Given the description of an element on the screen output the (x, y) to click on. 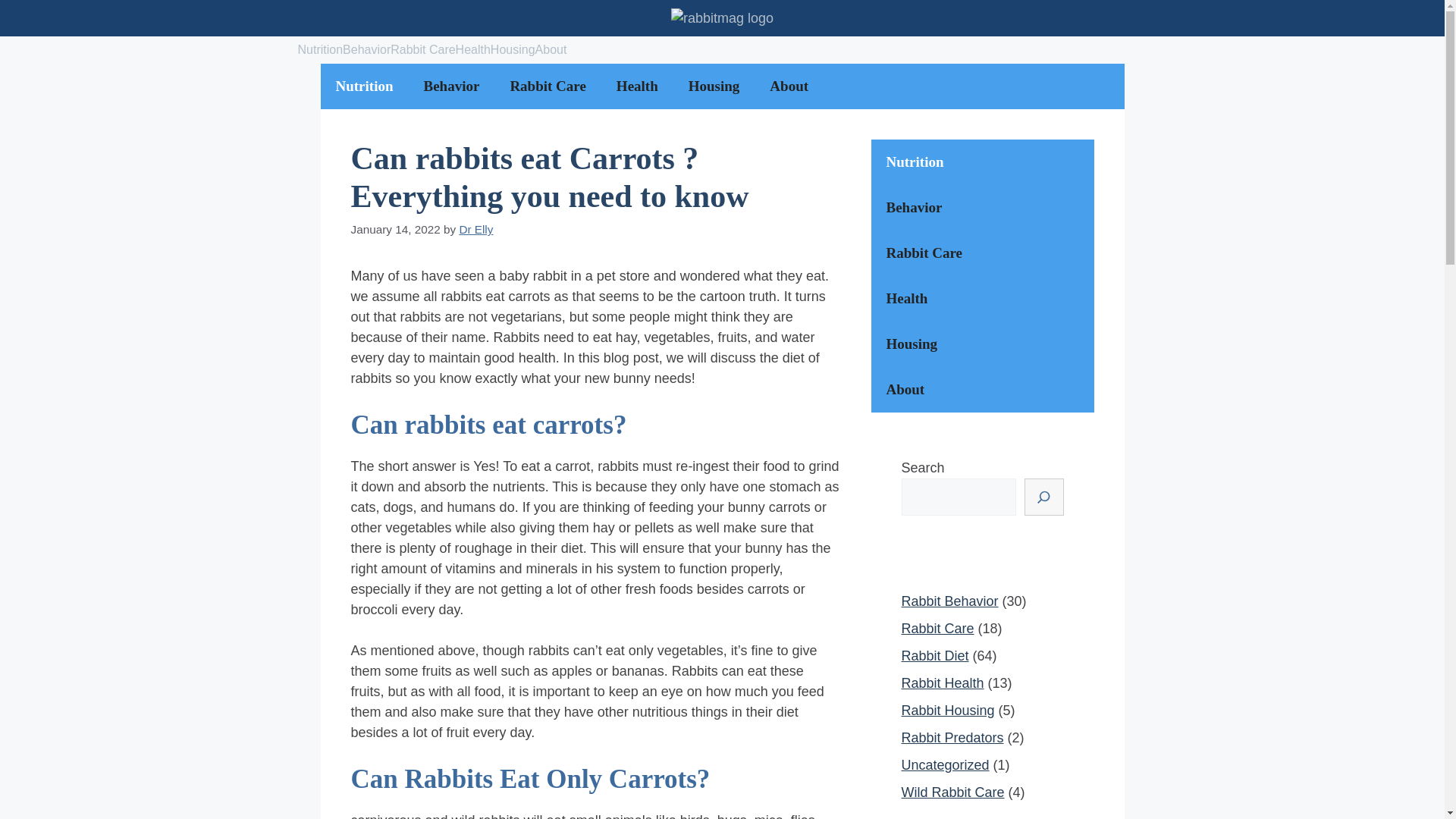
Rabbit Diet (934, 655)
Behavior (981, 207)
Rabbit Care (547, 85)
Rabbit Behavior (949, 601)
Rabbit Care (422, 50)
Rabbit Care (981, 253)
Housing (981, 343)
About (981, 389)
Nutrition (363, 85)
Housing (512, 50)
